Given the description of an element on the screen output the (x, y) to click on. 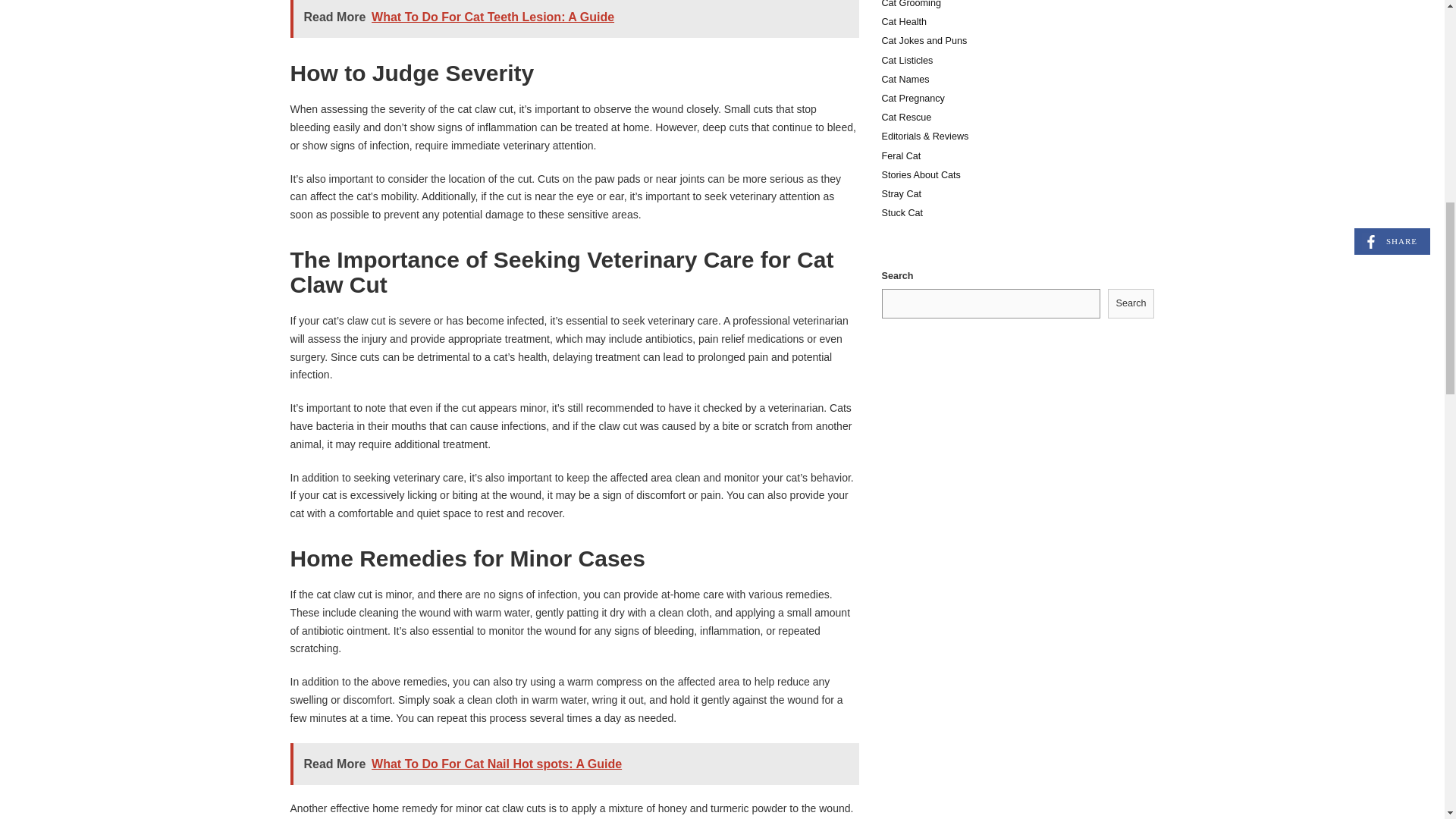
Cat Jokes and Puns (923, 40)
Cat Names (904, 79)
Stray Cat (900, 194)
Search (1131, 303)
Cat Grooming (910, 4)
Read More  What To Do For Cat Nail Hot spots: A Guide (574, 763)
Cat Pregnancy (911, 98)
Cat Health (903, 21)
Cat Listicles (906, 60)
Feral Cat (900, 155)
Read More  What To Do For Cat Teeth Lesion: A Guide (574, 18)
Cat Rescue (905, 117)
Stuck Cat (901, 213)
Stories About Cats (919, 174)
